Given the description of an element on the screen output the (x, y) to click on. 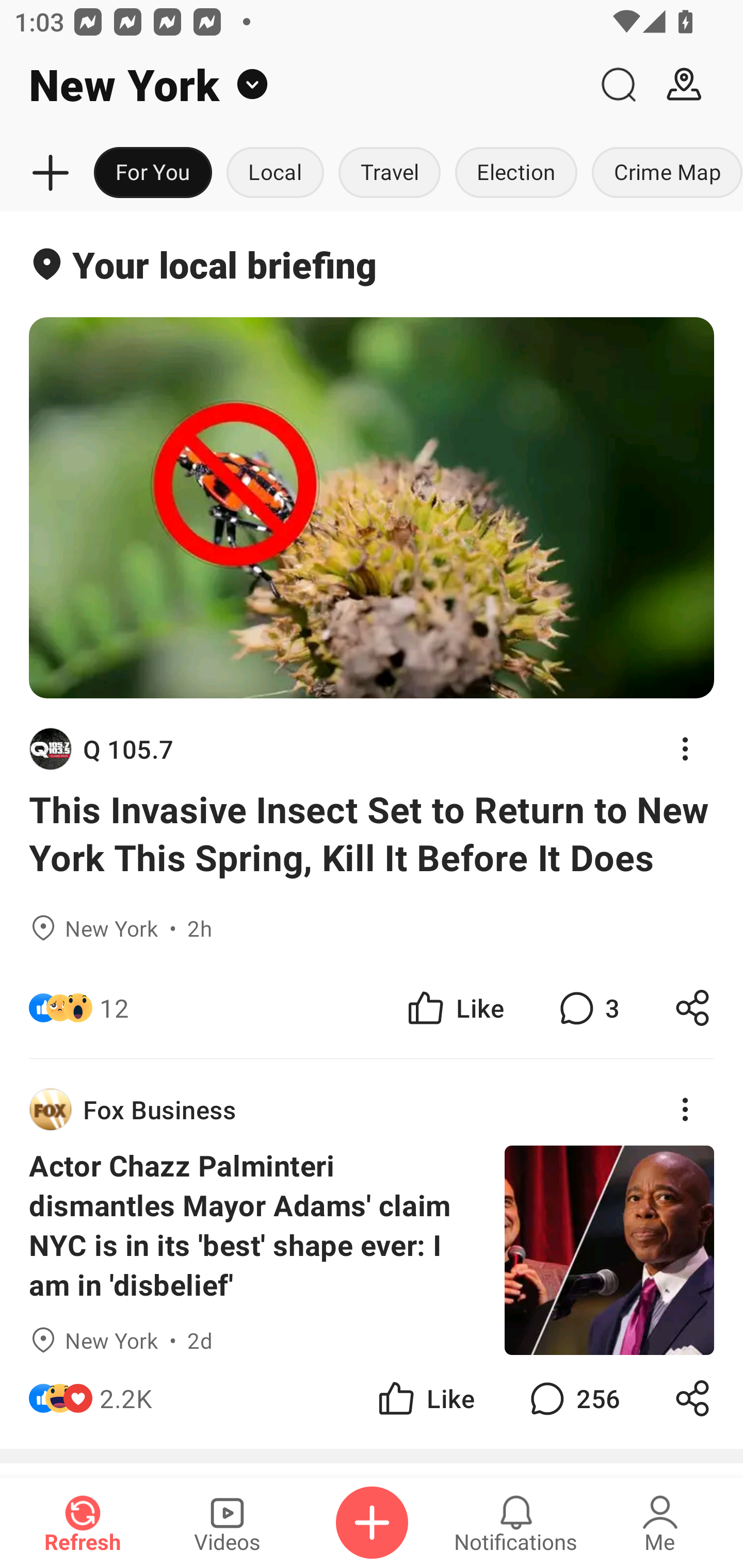
New York (292, 84)
For You (152, 172)
Local (275, 172)
Travel (389, 172)
Election (516, 172)
Crime Map (663, 172)
12 (114, 1007)
Like (454, 1007)
3 (587, 1007)
2.2K (125, 1397)
Like (425, 1397)
256 (572, 1397)
Videos (227, 1522)
Notifications (516, 1522)
Me (659, 1522)
